Given the description of an element on the screen output the (x, y) to click on. 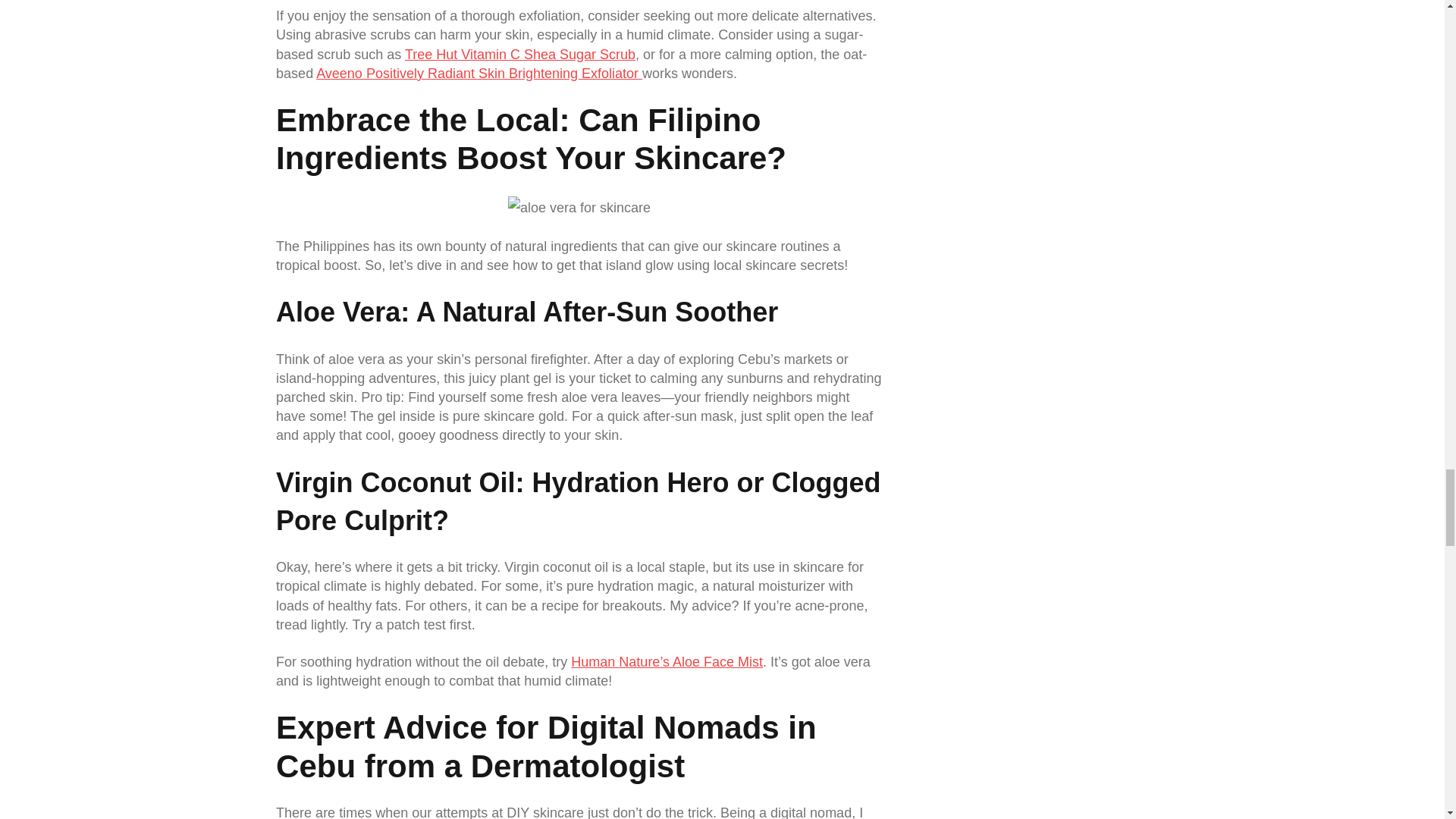
Aveeno Positively Radiant Skin Brightening Exfoliator (478, 73)
Tree Hut Vitamin C Shea Sugar Scrub (519, 54)
